Given the description of an element on the screen output the (x, y) to click on. 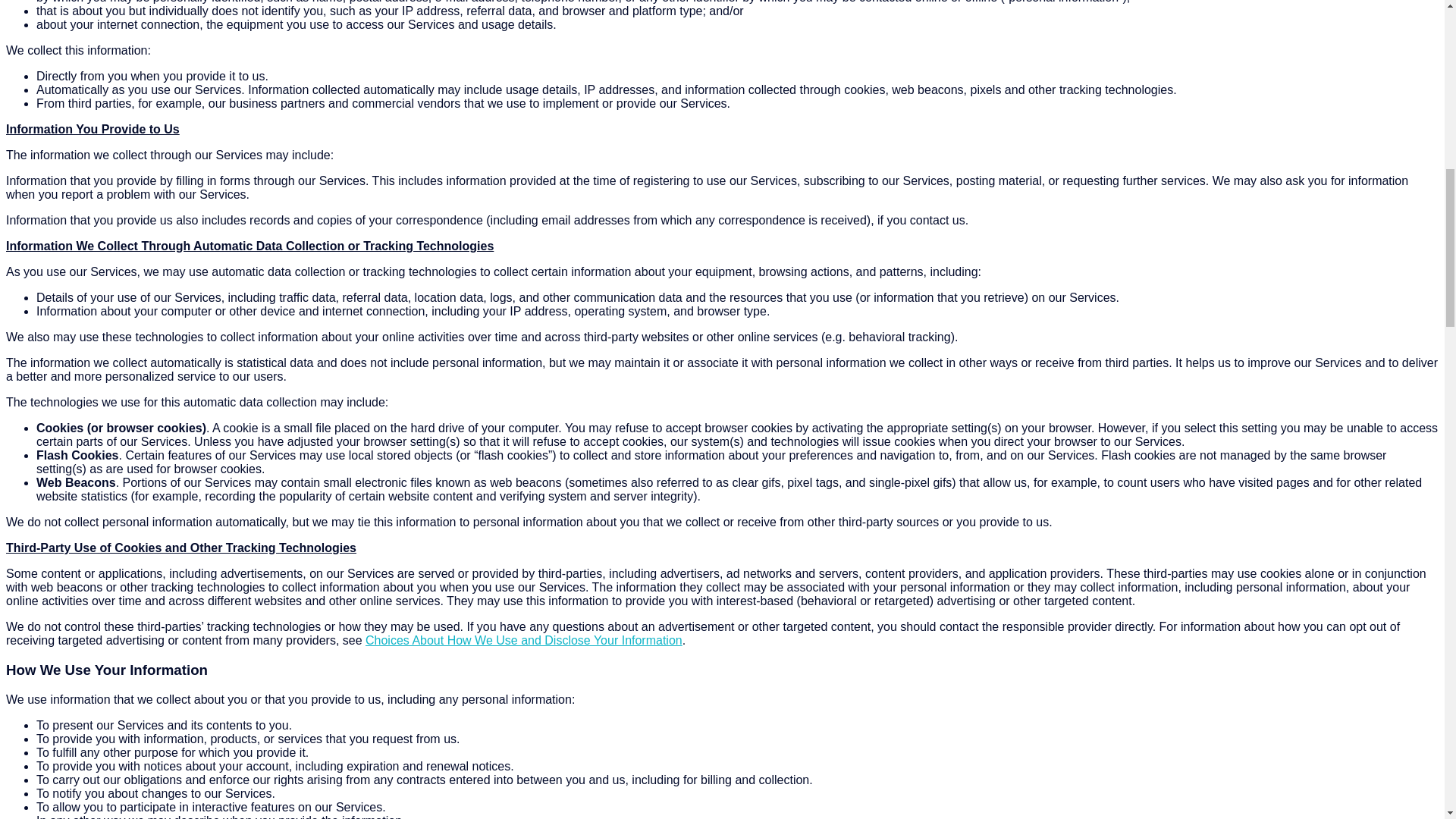
Choices About How We Use and Disclose Your Information (523, 640)
